Given the description of an element on the screen output the (x, y) to click on. 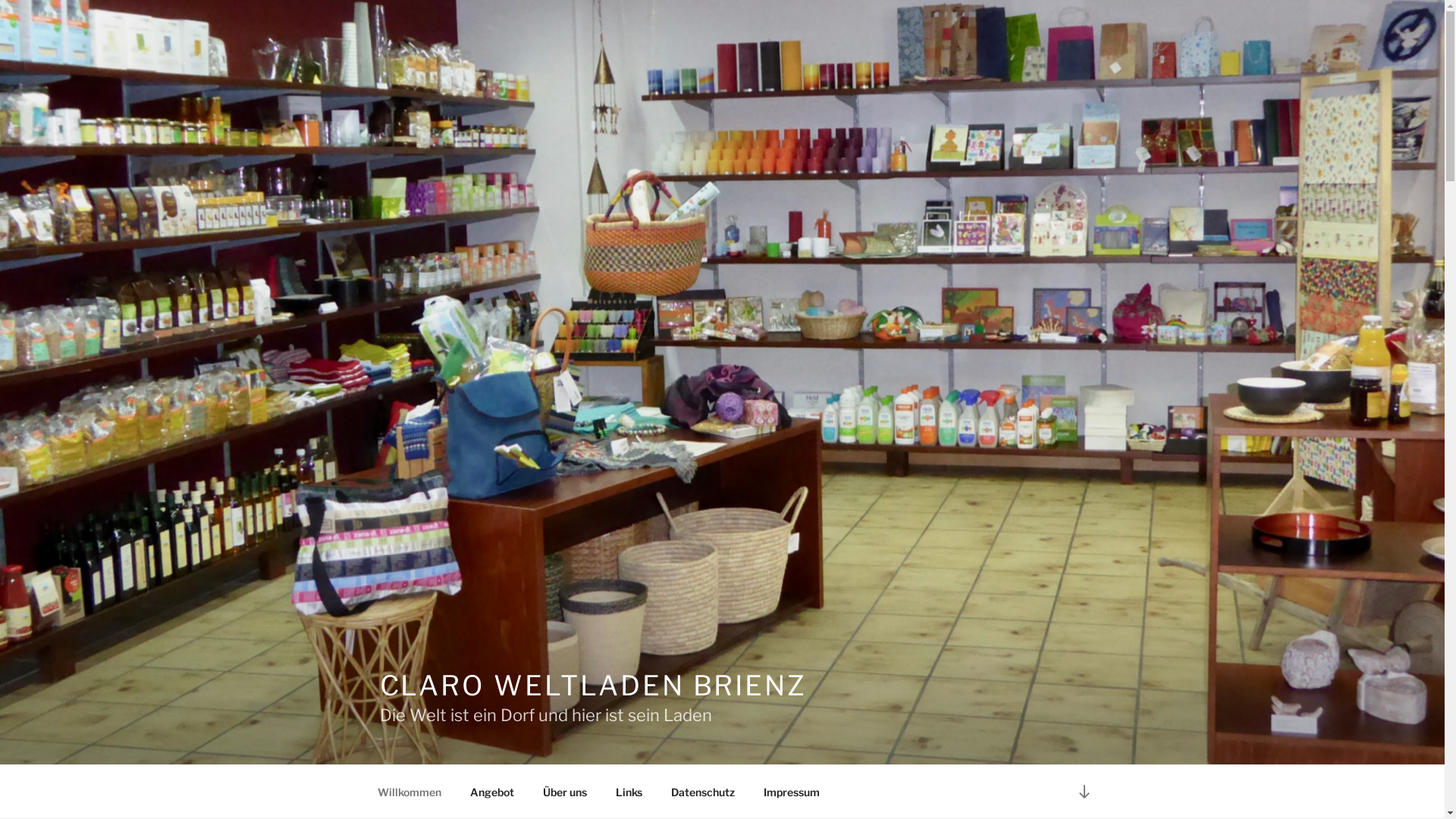
Datenschutz Element type: text (703, 791)
Zum Inhalt nach unten scrollen Element type: text (1083, 790)
Impressum Element type: text (791, 791)
Angebot Element type: text (491, 791)
Links Element type: text (628, 791)
CLARO WELTLADEN BRIENZ Element type: text (592, 685)
Willkommen Element type: text (409, 791)
